Given the description of an element on the screen output the (x, y) to click on. 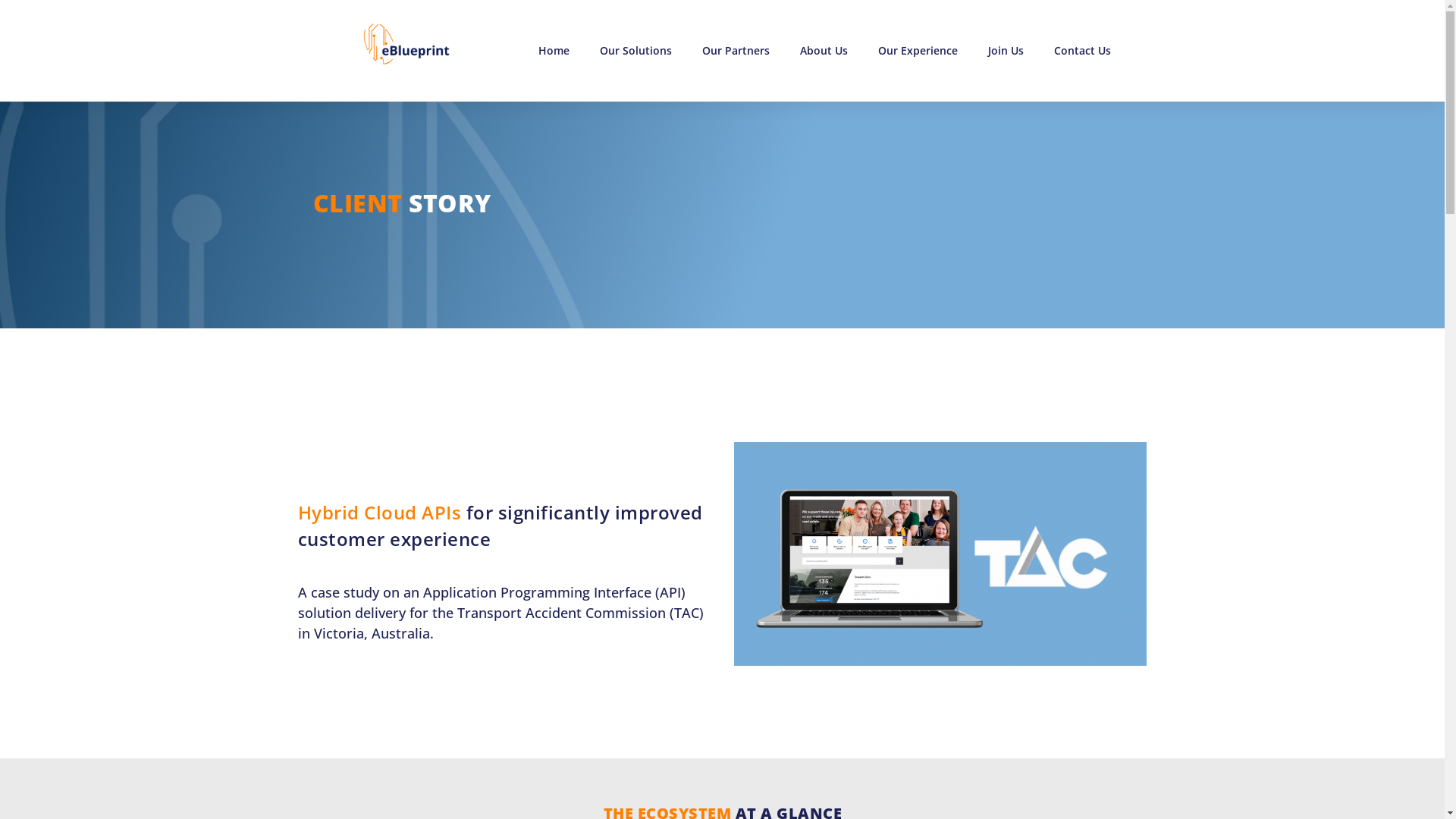
Join Us Element type: text (1005, 50)
Our Partners Element type: text (735, 50)
Contact Us Element type: text (1082, 50)
About Us Element type: text (823, 50)
Home Element type: text (553, 50)
Our Solutions Element type: text (634, 50)
Our Experience Element type: text (917, 50)
